Given the description of an element on the screen output the (x, y) to click on. 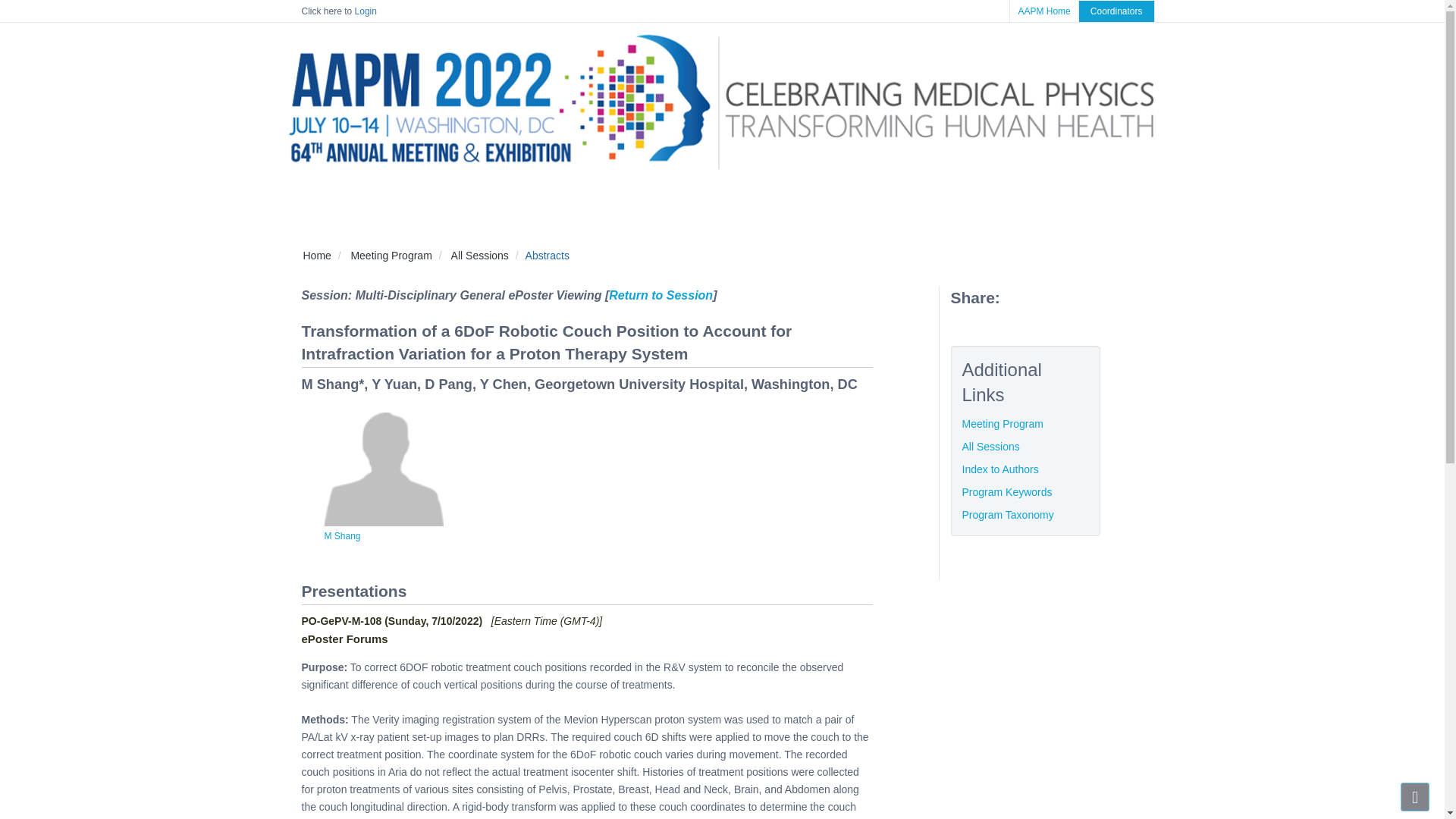
AAPM Home (1043, 10)
All Sessions (479, 255)
M Shang (342, 535)
Meeting Program (390, 255)
Home (316, 255)
Coordinators (1116, 11)
Return to Session (660, 295)
Login (366, 10)
